Given the description of an element on the screen output the (x, y) to click on. 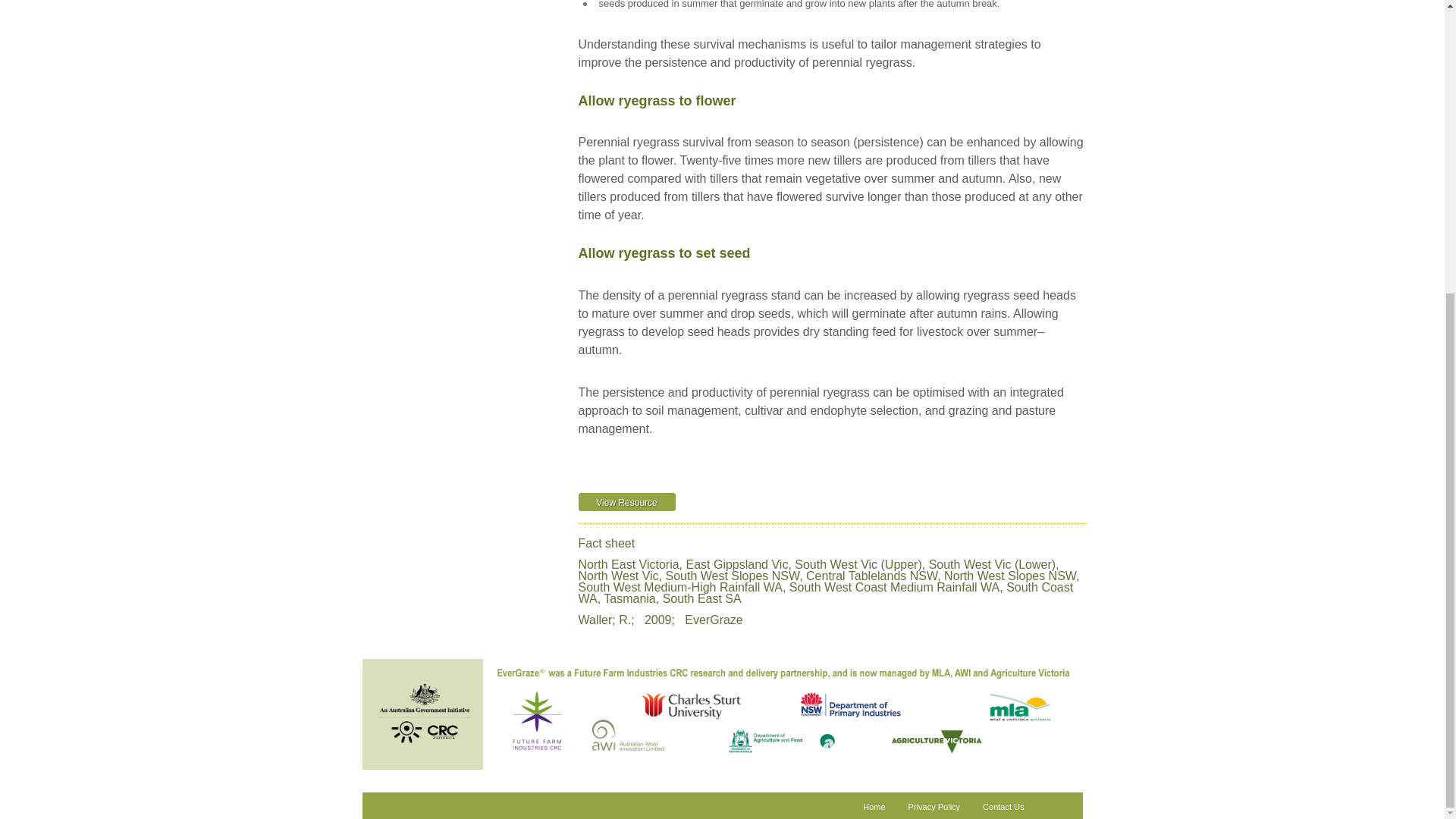
View Resource (626, 502)
